Given the description of an element on the screen output the (x, y) to click on. 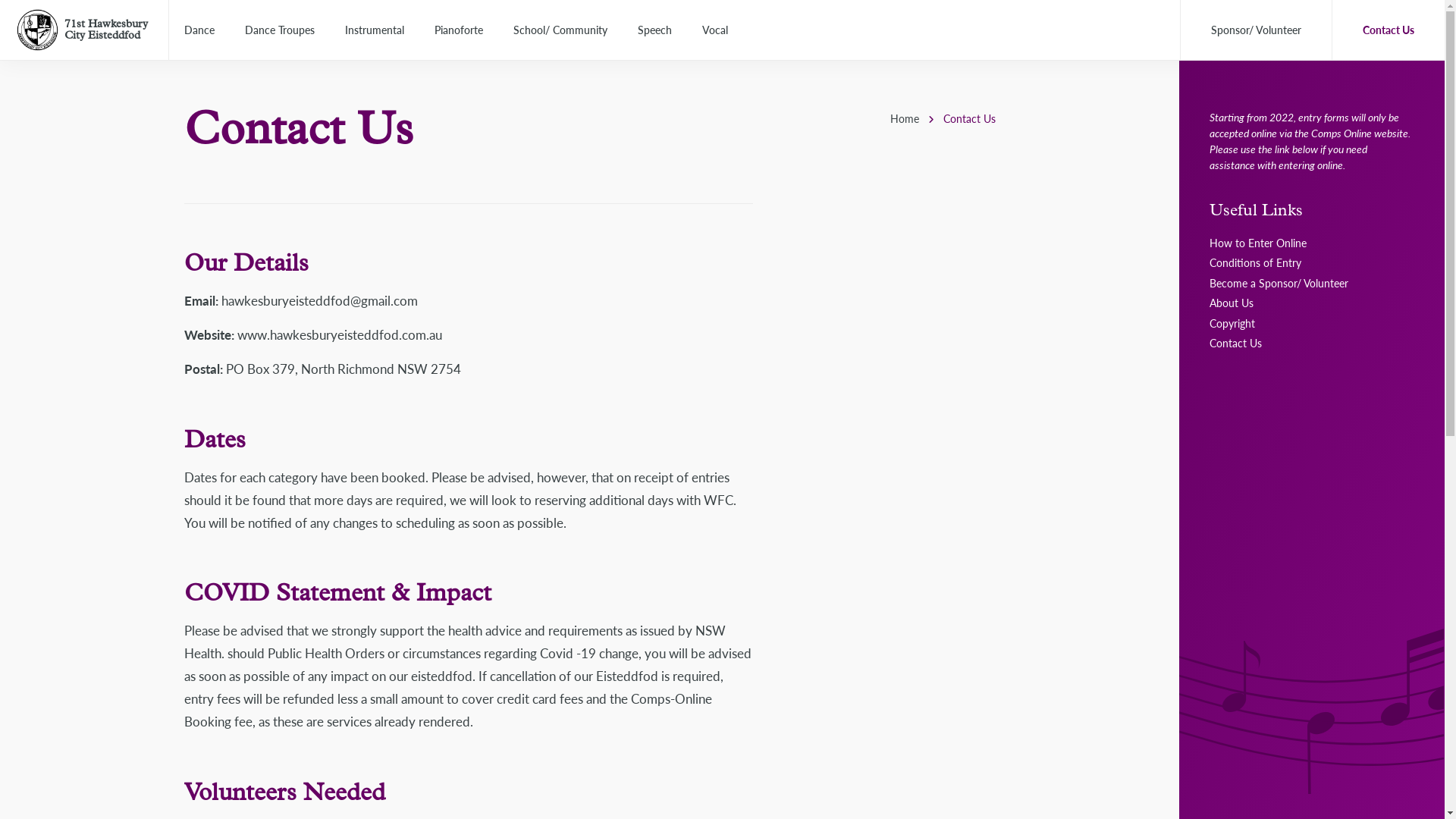
About Us Element type: text (1231, 302)
Conditions of Entry Element type: text (1255, 261)
Vocal Element type: text (715, 29)
Pianoforte Element type: text (458, 29)
Contact Us Element type: text (1388, 29)
Dance Element type: text (199, 29)
Copyright Element type: text (1232, 322)
Speech Element type: text (654, 29)
Instrumental Element type: text (374, 29)
School/ Community Element type: text (560, 29)
Contact Us Element type: text (1235, 342)
71st Hawkesbury City Eisteddfod Element type: text (105, 29)
Dance Troupes Element type: text (279, 29)
Home Element type: text (904, 117)
Sponsor/ Volunteer Element type: text (1255, 29)
Become a Sponsor/ Volunteer Element type: text (1278, 282)
How to Enter Online Element type: text (1257, 242)
